Given the description of an element on the screen output the (x, y) to click on. 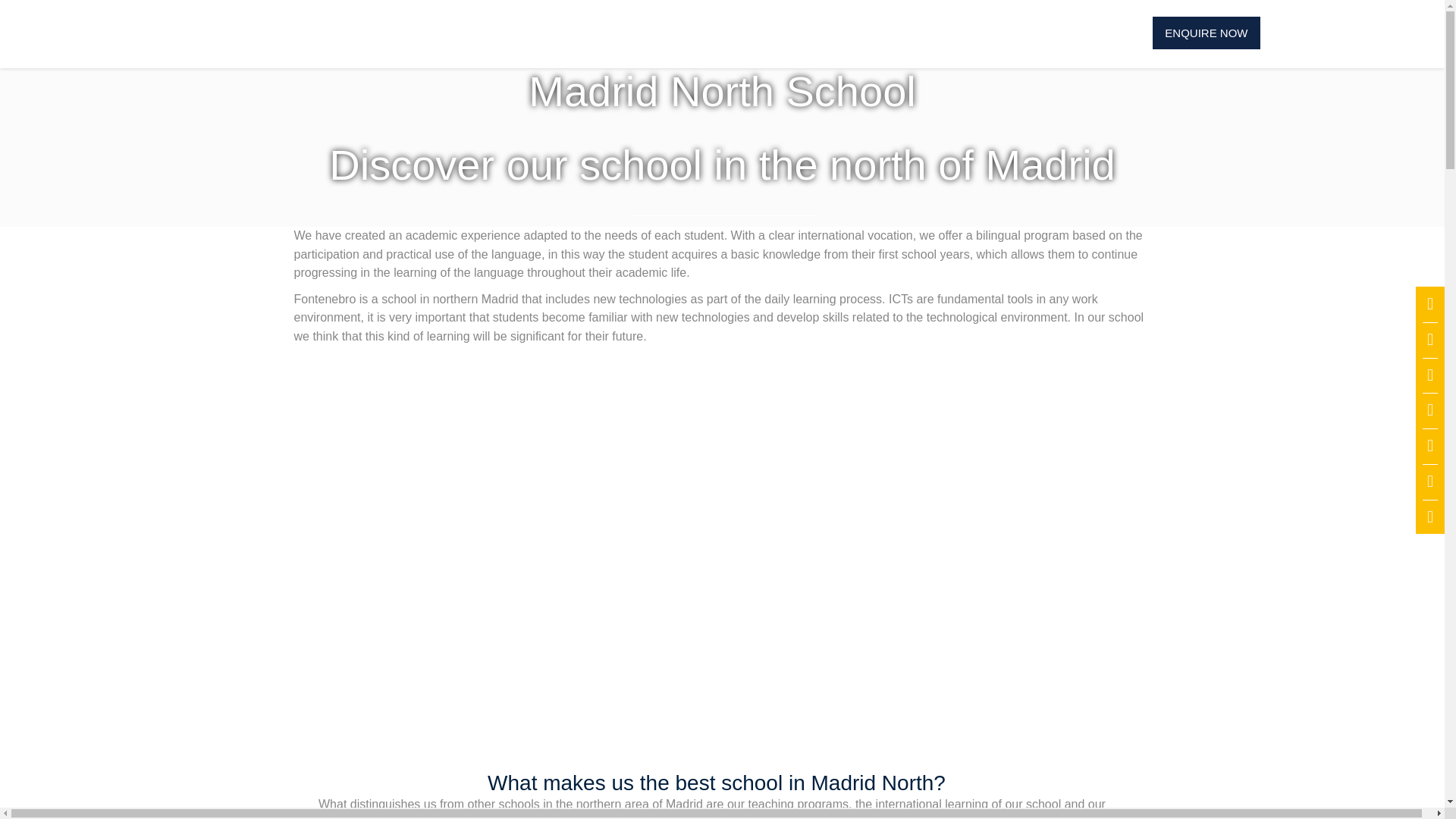
LEARNING (662, 31)
ENQUIRE NOW (1205, 32)
SCHOOL LIFE (773, 31)
ADMISSIONS (551, 31)
OUR SCHOOL (427, 31)
CONTACT (1027, 31)
More information (1205, 32)
